Given the description of an element on the screen output the (x, y) to click on. 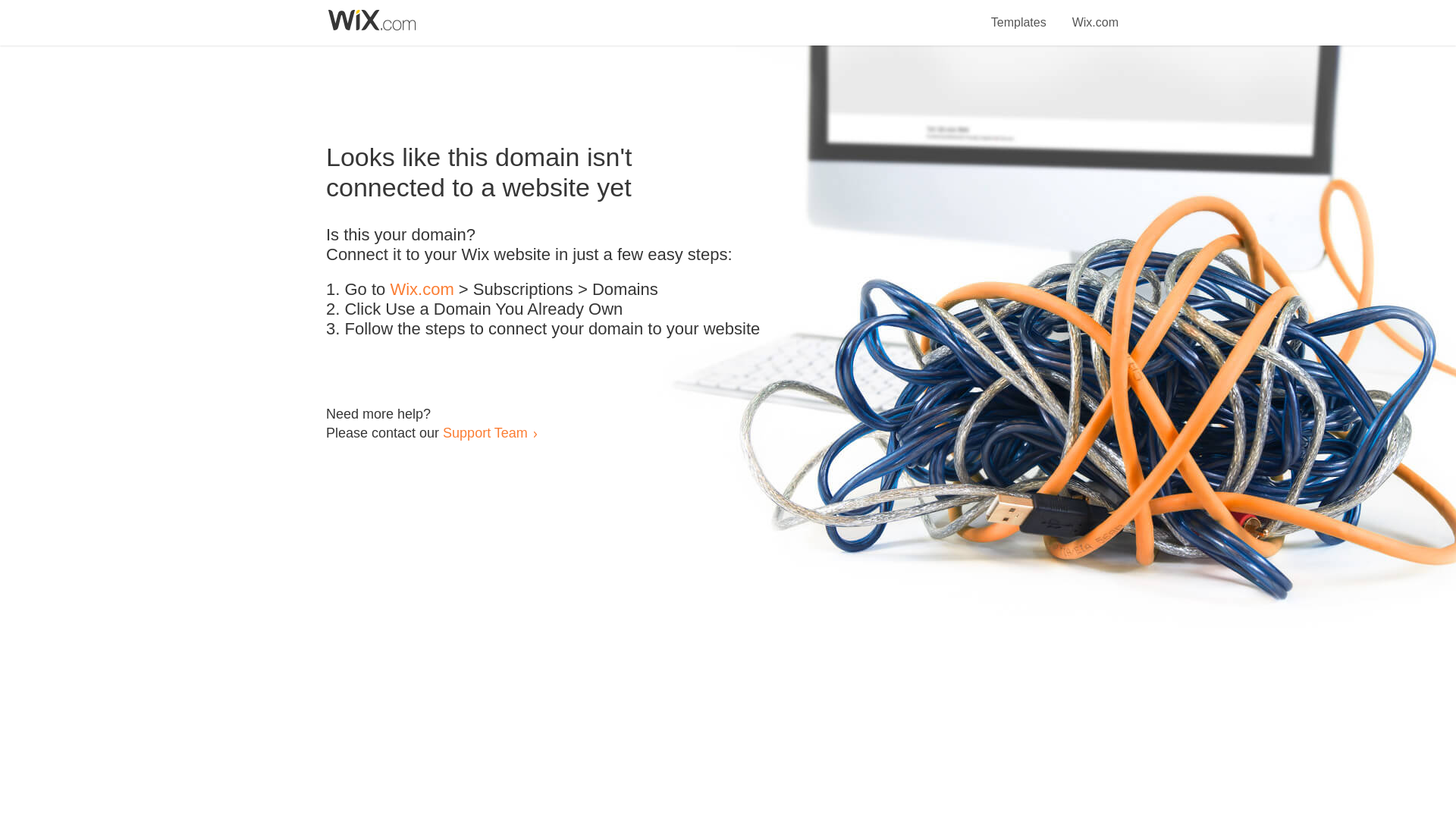
Wix.com (1095, 14)
Wix.com (421, 289)
Templates (1018, 14)
Support Team (484, 432)
